Given the description of an element on the screen output the (x, y) to click on. 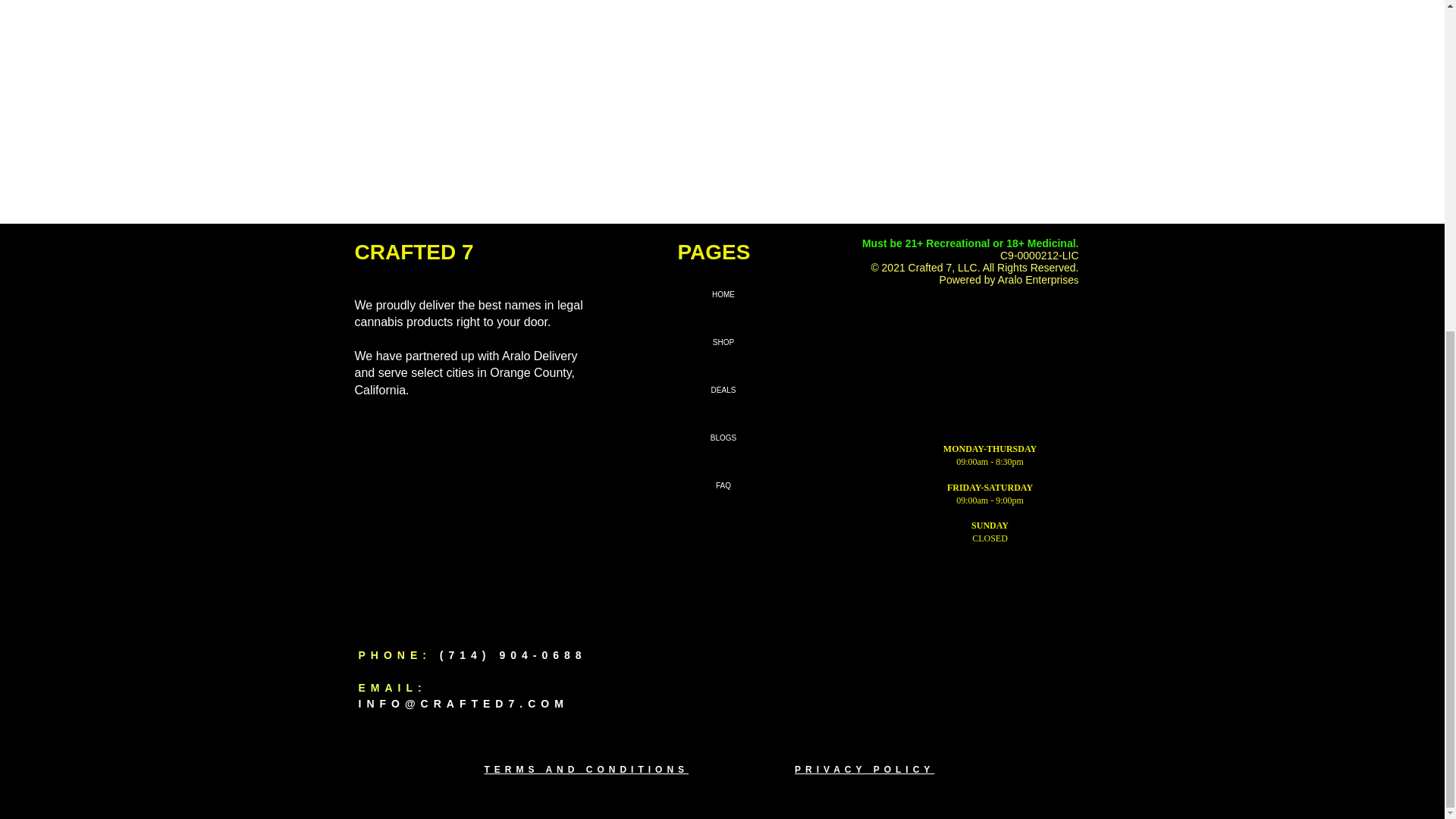
HOME (723, 294)
EMAIL: (392, 687)
BLOGS (723, 437)
FAQ (723, 485)
PRIVACY POLICY (864, 769)
TERMS AND CONDITIONS                (638, 769)
DEALS (723, 390)
